Given the description of an element on the screen output the (x, y) to click on. 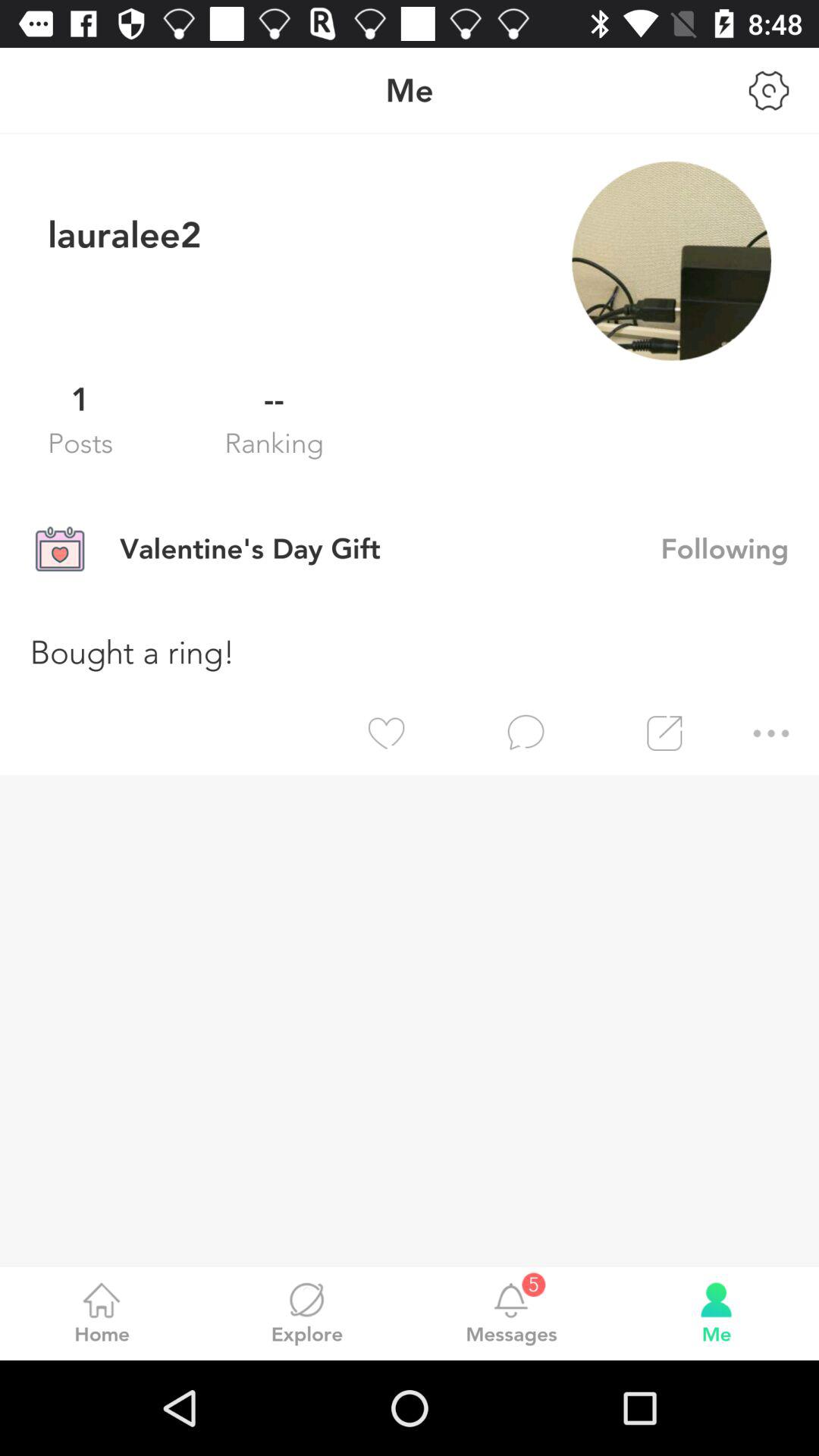
launch the item below bought a ring! app (577, 733)
